Given the description of an element on the screen output the (x, y) to click on. 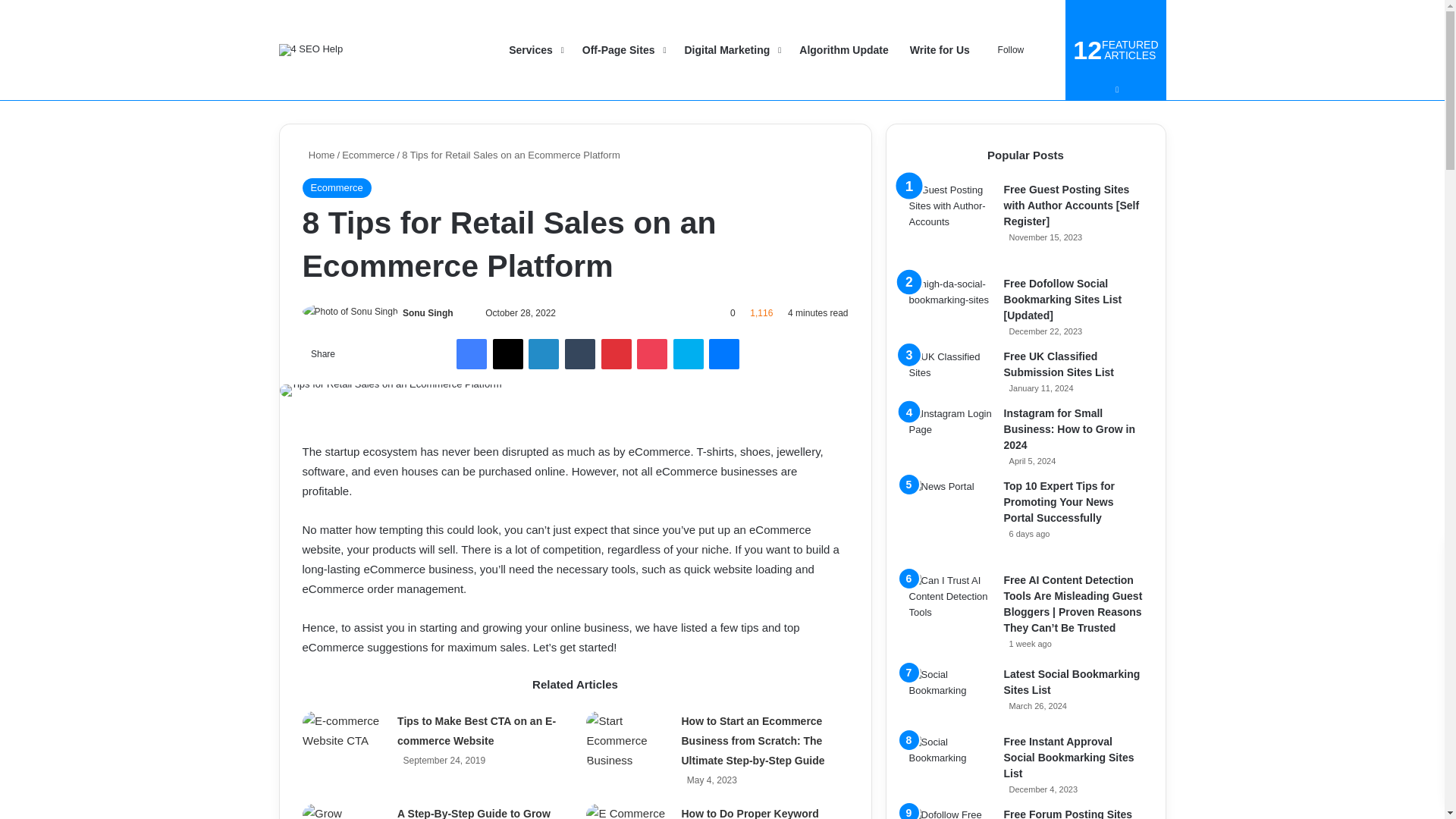
Digital Marketing (730, 49)
Off-Page Sites (623, 49)
4 SEO Help (311, 50)
Sonu Singh (427, 312)
